Given the description of an element on the screen output the (x, y) to click on. 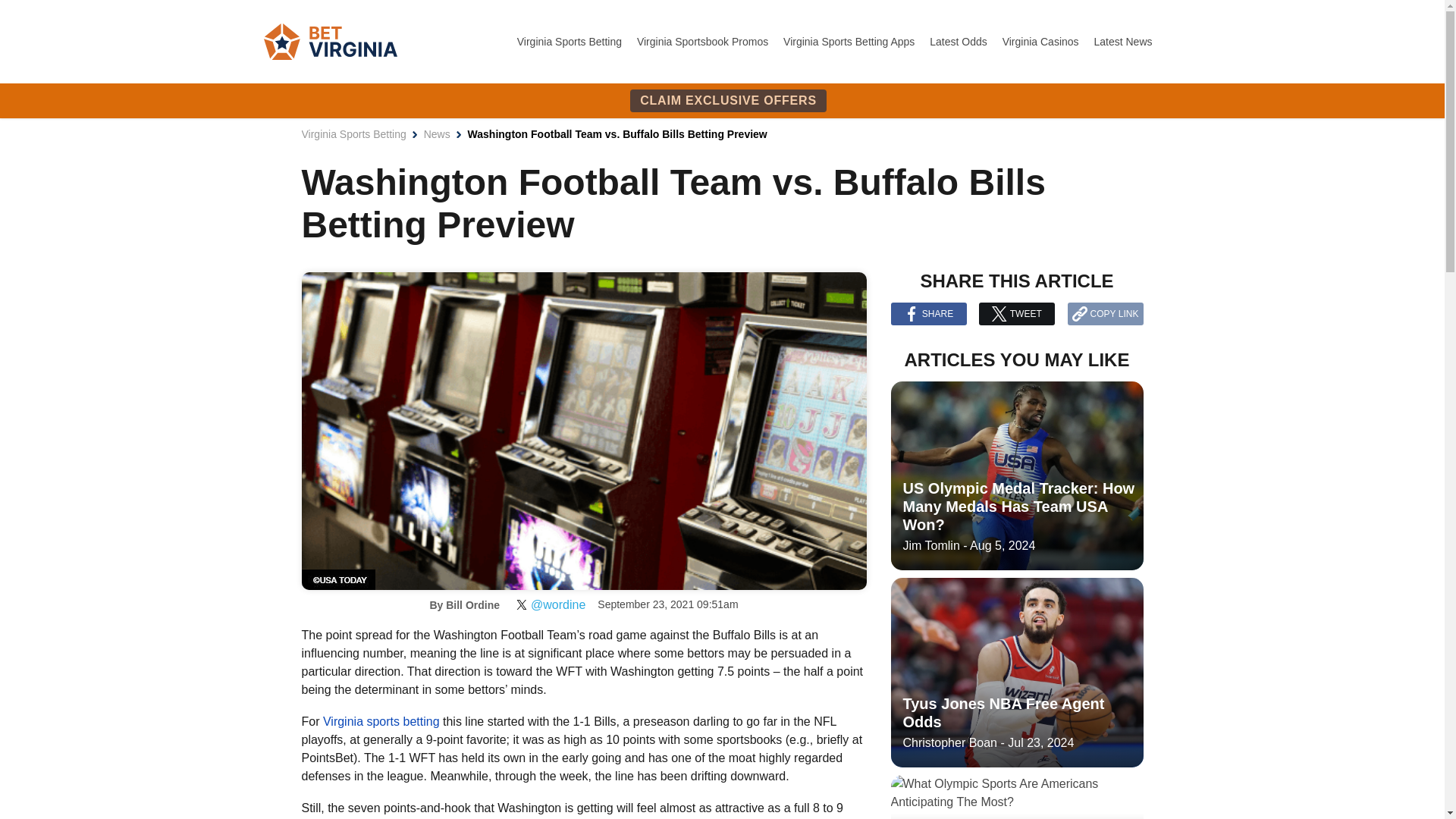
Latest Odds (960, 41)
US Olympic Medal Tracker: How Many Medals Has Team USA Won? (1015, 475)
Virginia Sportsbook Promos (704, 41)
News (436, 133)
Virginia Sports Betting (353, 133)
Virginia Casinos (1042, 41)
What Olympic Sports Are Americans Anticipating The Most? (1015, 796)
Virginia Sports Betting (570, 41)
Tyus Jones NBA Free Agent Odds (1015, 672)
Virginia Sports Betting Apps (850, 41)
BetVirginia.com logo (330, 41)
